Given the description of an element on the screen output the (x, y) to click on. 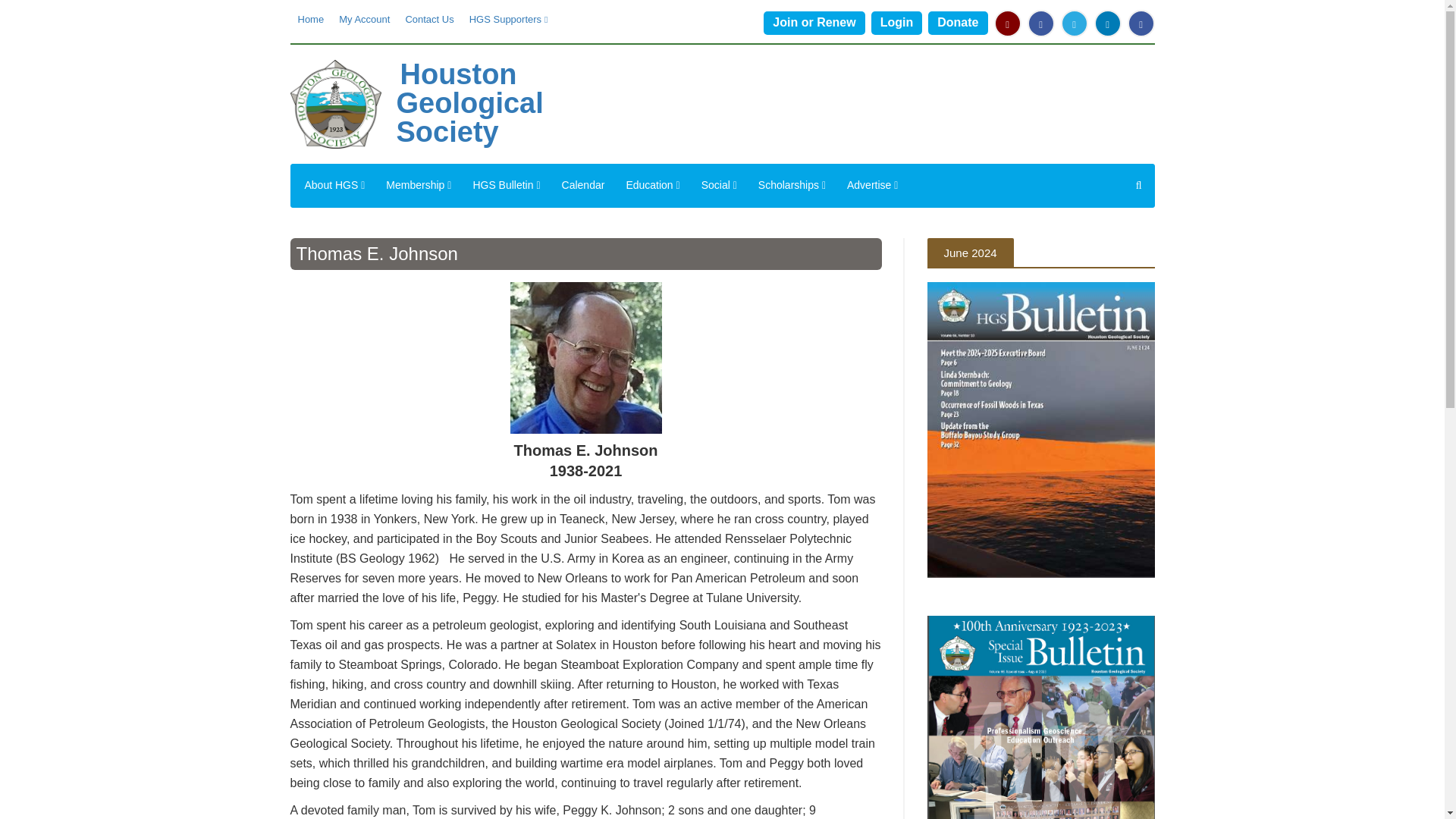
Contact Us (429, 20)
Houston Geological Society (469, 102)
My Account (364, 20)
HGS Supporters (508, 20)
Home (310, 20)
Home (469, 102)
Login (896, 23)
About Houston Geological Society (418, 185)
Membership (418, 185)
Donate (957, 23)
About HGS (333, 185)
Join or Renew (813, 23)
